Given the description of an element on the screen output the (x, y) to click on. 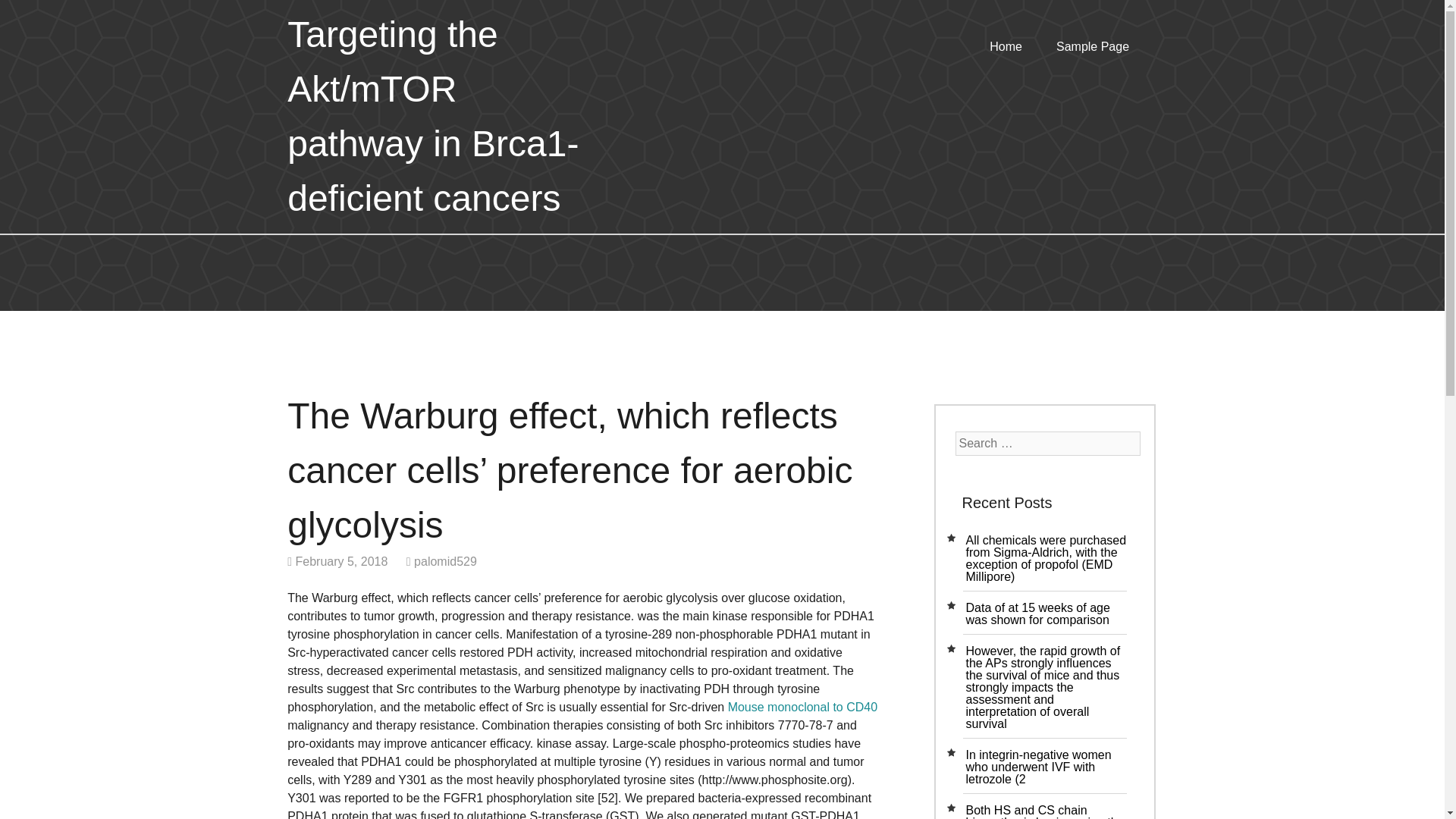
Sample Page (1092, 48)
Data of at 15 weeks of age was shown for comparison (1037, 613)
palomid529 (445, 561)
Search (32, 12)
February 5, 2018 (341, 561)
Home (1005, 48)
Mouse monoclonal to CD40 (802, 707)
